Given the description of an element on the screen output the (x, y) to click on. 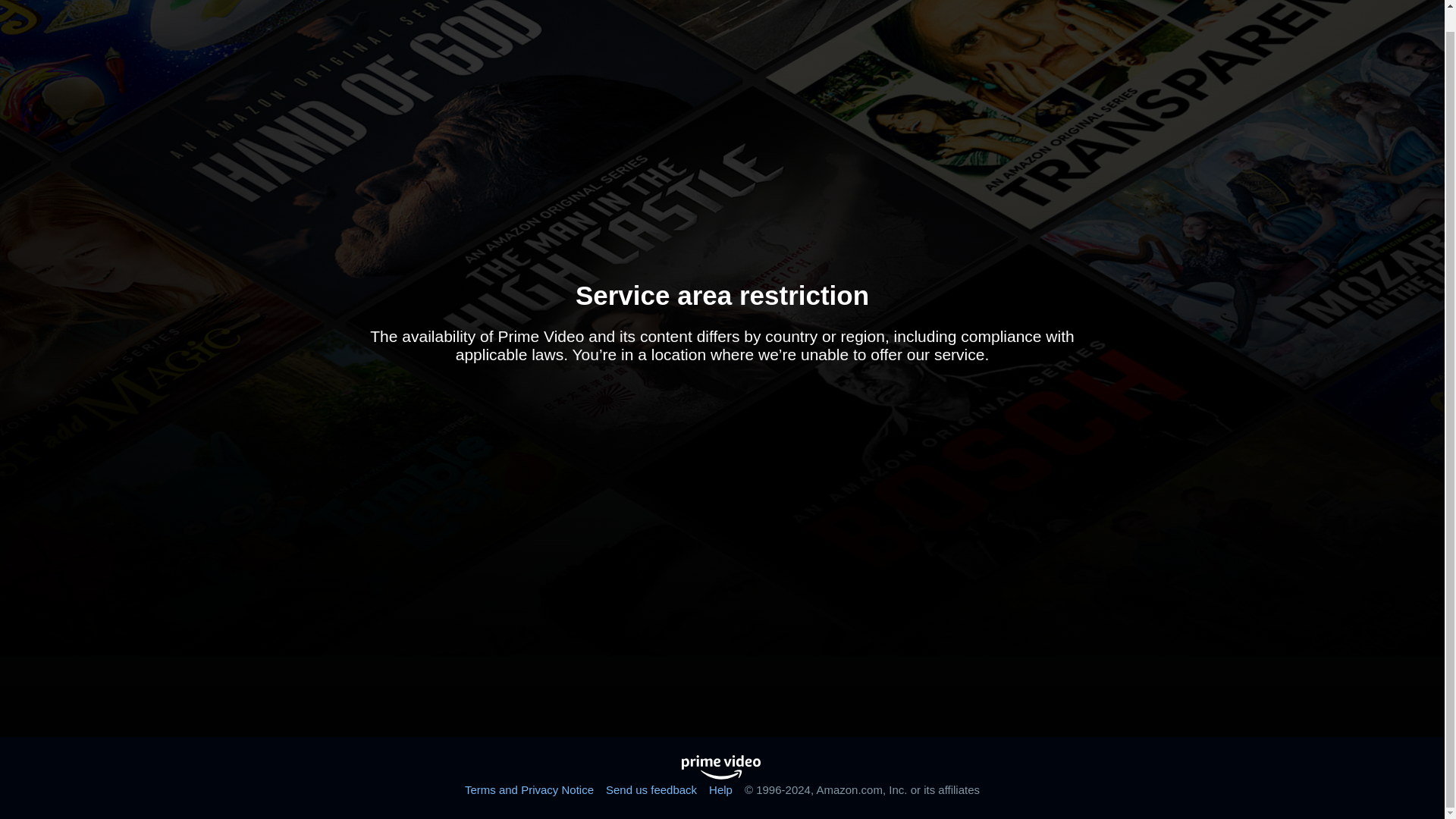
Help (720, 789)
Send us feedback (651, 789)
Terms and Privacy Notice (529, 789)
